Given the description of an element on the screen output the (x, y) to click on. 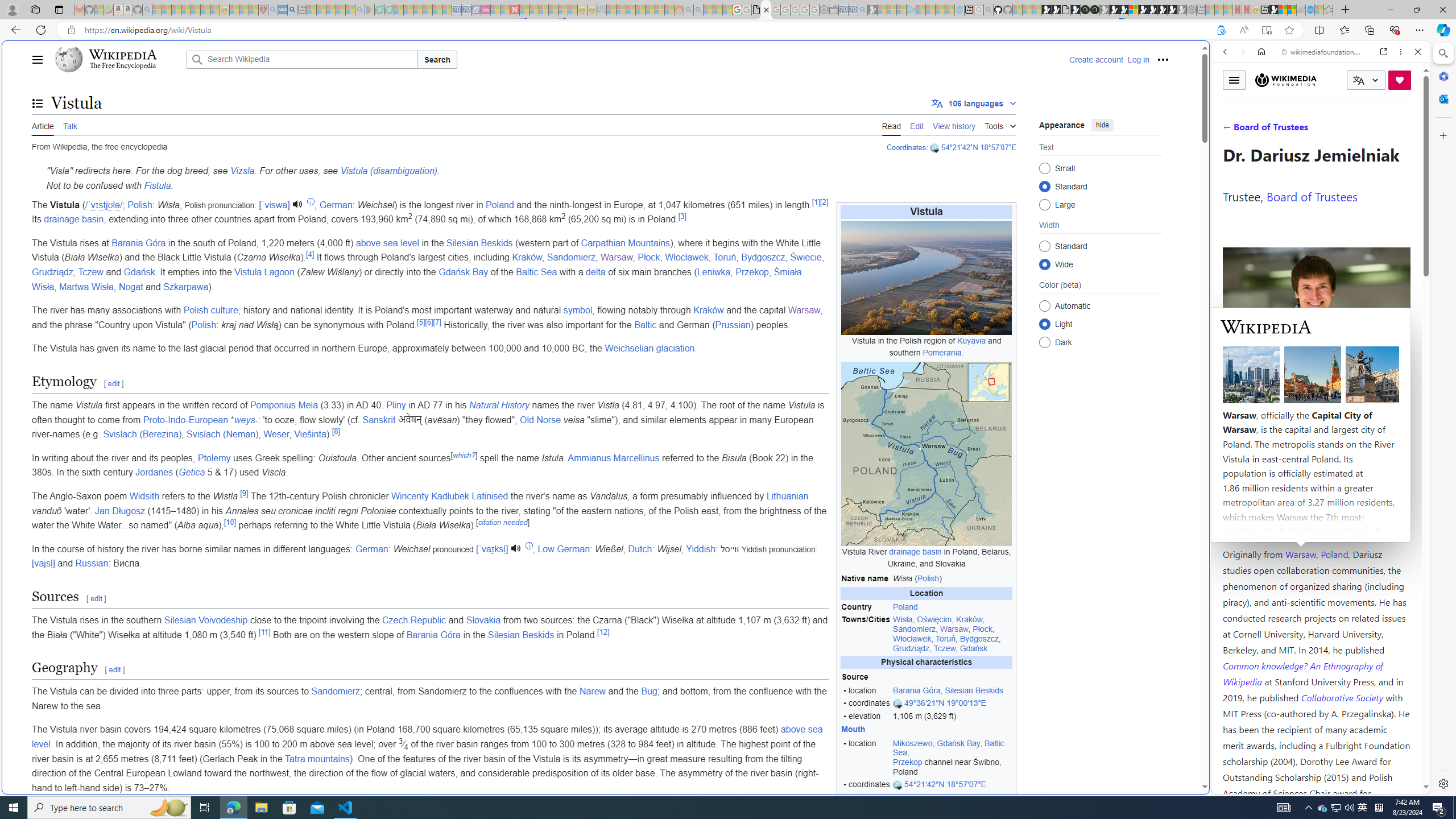
Local - MSN - Sleeping (253, 9)
Baltic Sea (536, 271)
Favorites - Sleeping (1328, 9)
Harvard University (1259, 526)
Read (890, 124)
Country (865, 607)
